Given the description of an element on the screen output the (x, y) to click on. 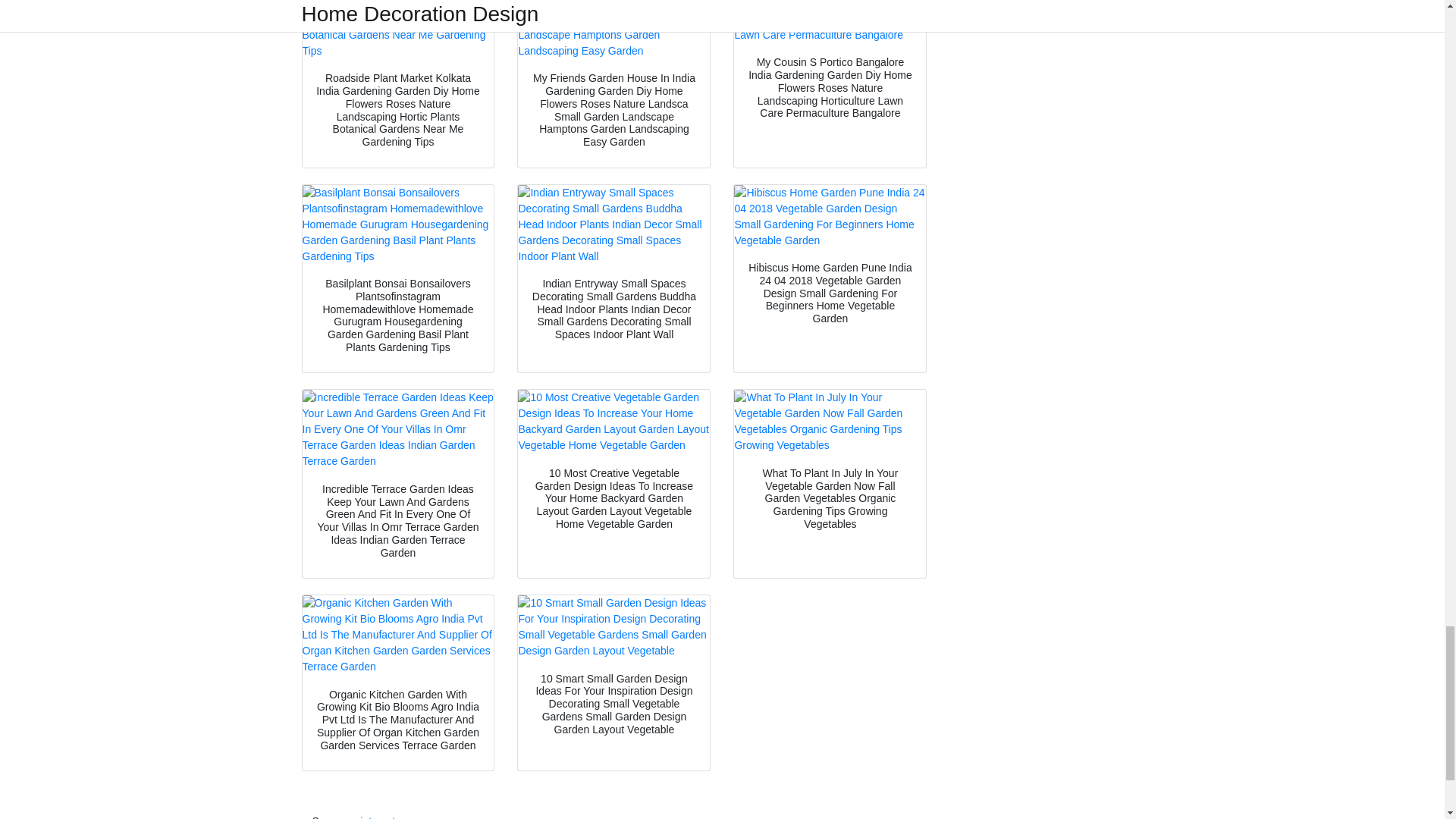
pinterest.com (387, 816)
